Given the description of an element on the screen output the (x, y) to click on. 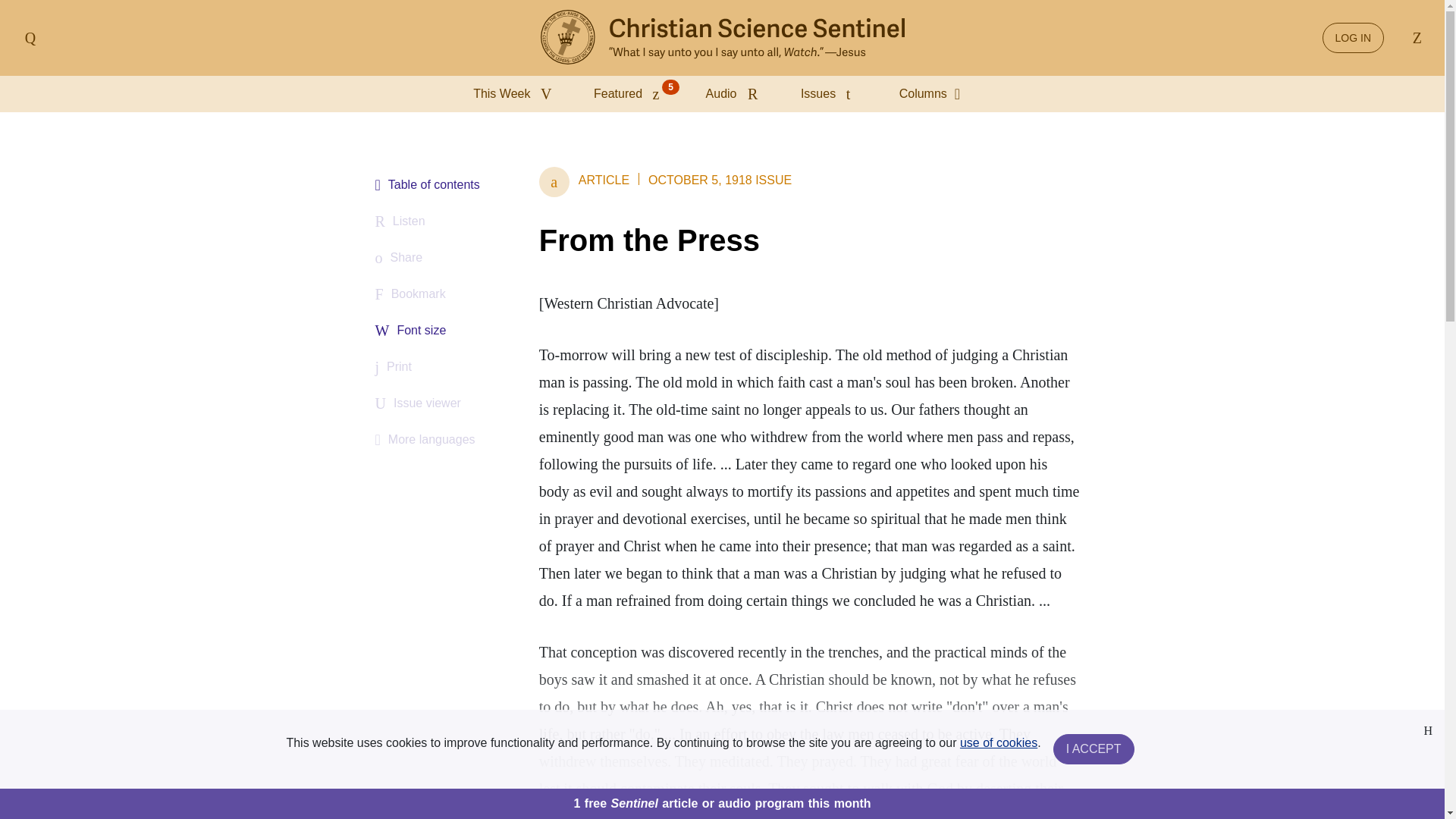
Featured (631, 94)
LOG IN (1353, 37)
Audio (735, 94)
View Sentinel Columns and Sections (934, 94)
This Week (515, 94)
Audio (735, 94)
Columns (934, 94)
Christian Science Sentinel (722, 37)
Issues (831, 94)
Side Menu (29, 37)
This Week (515, 94)
Search Modal (1414, 37)
Issues (831, 94)
Featured (631, 94)
